Given the description of an element on the screen output the (x, y) to click on. 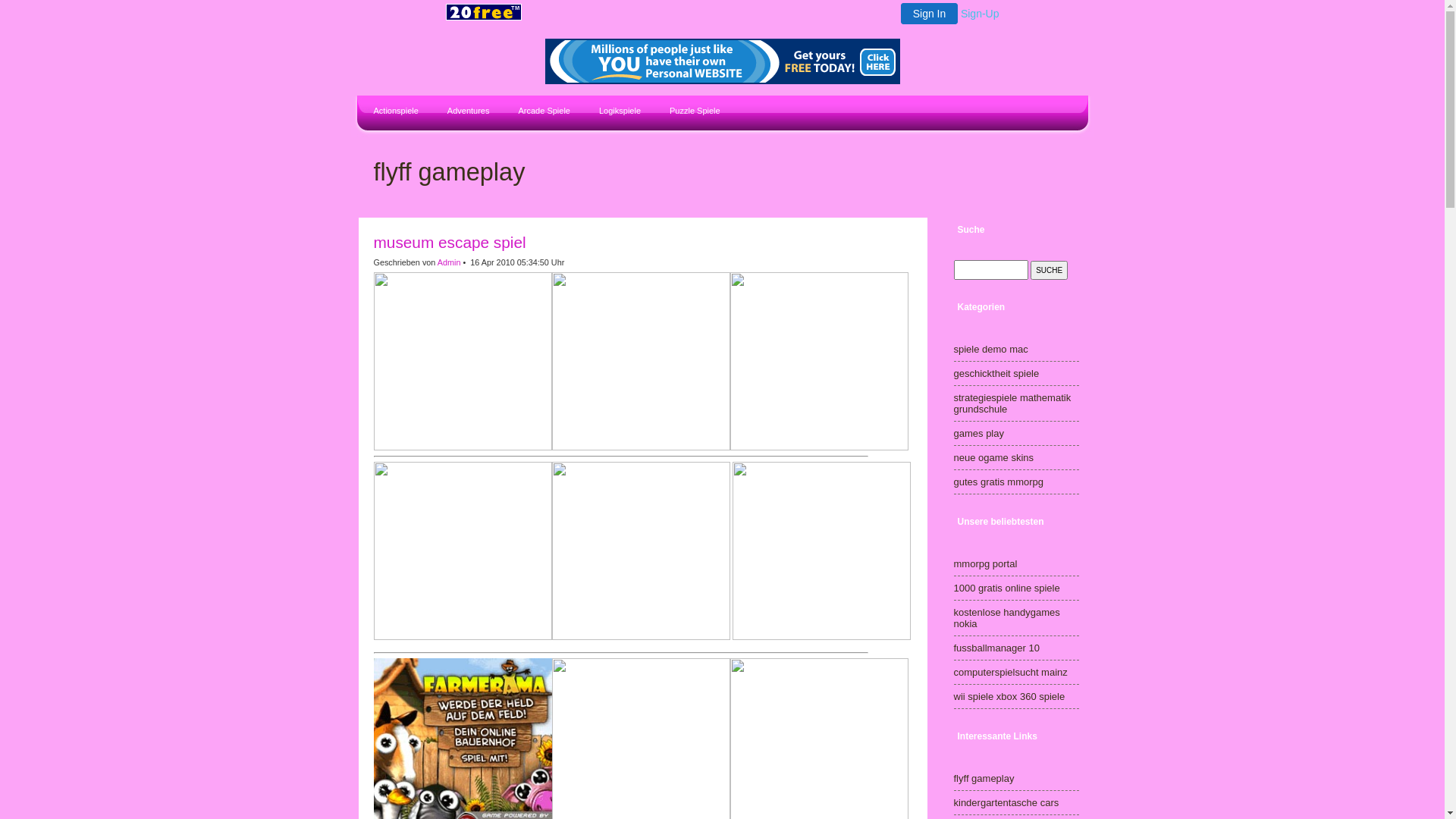
strategiespiele mathematik grundschule Element type: text (1012, 403)
Sign-Up Element type: text (979, 13)
geschicktheit spiele Element type: text (996, 373)
Actionspiele Element type: text (393, 111)
neue ogame skins Element type: text (993, 457)
wii spiele xbox 360 spiele Element type: text (1009, 696)
kostenlose handygames nokia Element type: text (1006, 617)
games play Element type: text (978, 433)
Arcade Spiele Element type: text (541, 111)
Suche Element type: text (1048, 269)
spiele demo mac Element type: text (990, 348)
Logikspiele Element type: text (617, 111)
flyff gameplay Element type: text (983, 778)
1000 gratis online spiele Element type: text (1006, 587)
Sign In Element type: text (929, 13)
fussballmanager 10 Element type: text (996, 647)
mmorpg portal Element type: text (985, 563)
Admin Element type: text (449, 261)
Adventures Element type: text (466, 111)
computerspielsucht mainz Element type: text (1010, 671)
gutes gratis mmorpg Element type: text (998, 481)
Puzzle Spiele Element type: text (692, 111)
kindergartentasche cars Element type: text (1006, 802)
